Given the description of an element on the screen output the (x, y) to click on. 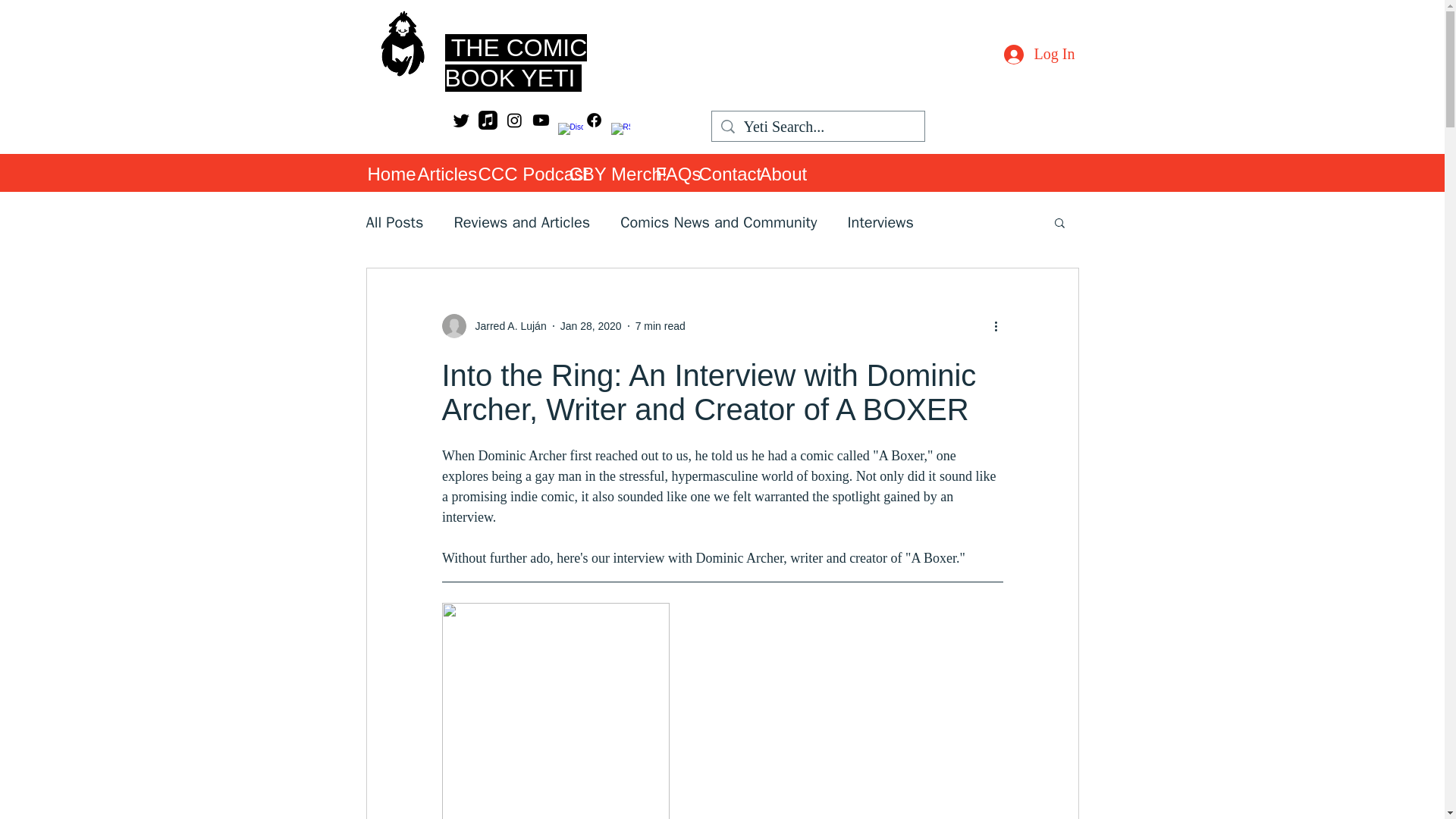
Articles (439, 172)
Reviews and Articles (520, 222)
Contact (721, 172)
Interviews (879, 222)
About (777, 172)
Home (384, 172)
Jan 28, 2020 (590, 326)
Comics News and Community (718, 222)
THE COMIC BOOK YETI  (515, 62)
FAQs (668, 172)
